Given the description of an element on the screen output the (x, y) to click on. 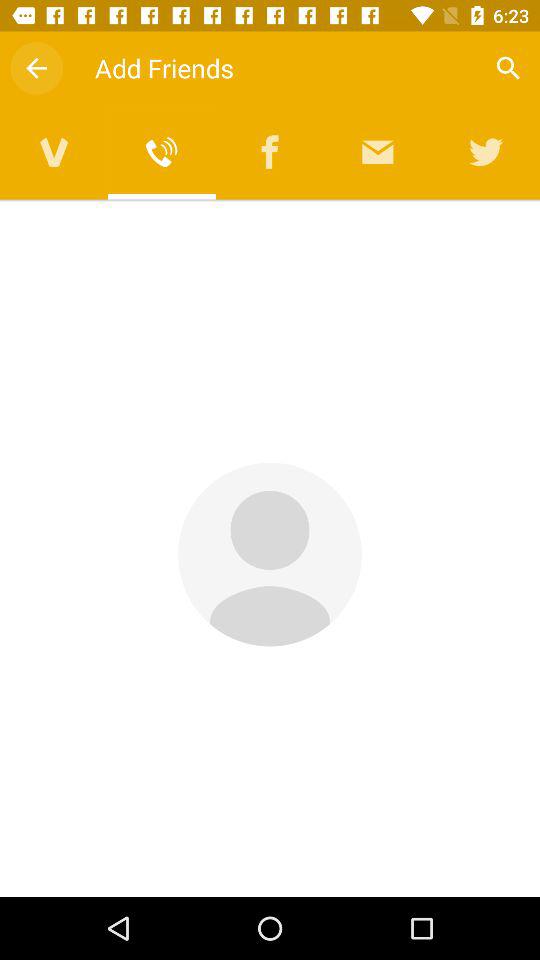
facebook friends (270, 152)
